Given the description of an element on the screen output the (x, y) to click on. 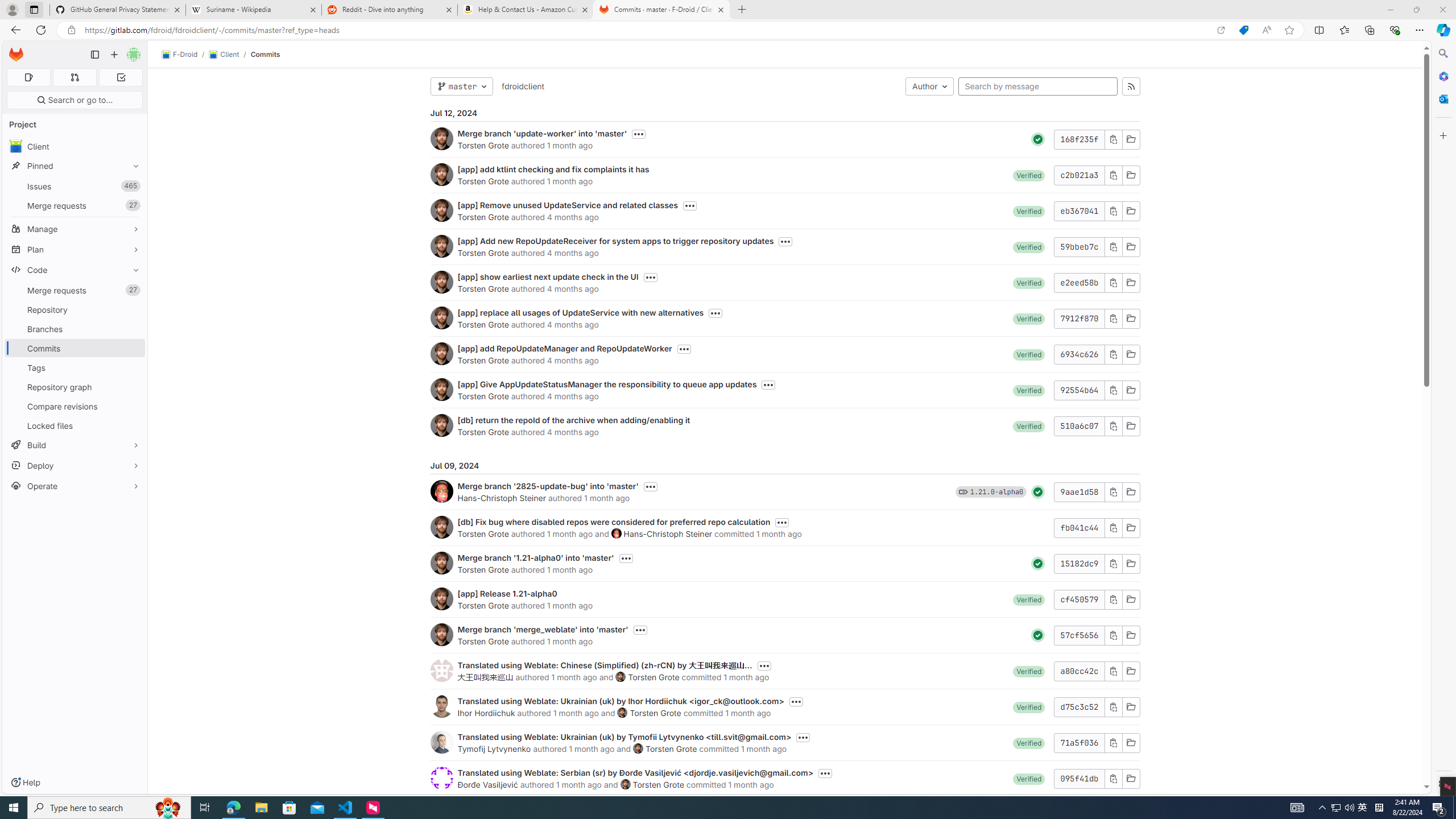
Copy commit SHA (1112, 778)
[app] add RepoUpdateManager and RepoUpdateWorker (564, 347)
[app] add ktlint checking and fix complaints it has (553, 168)
